Given the description of an element on the screen output the (x, y) to click on. 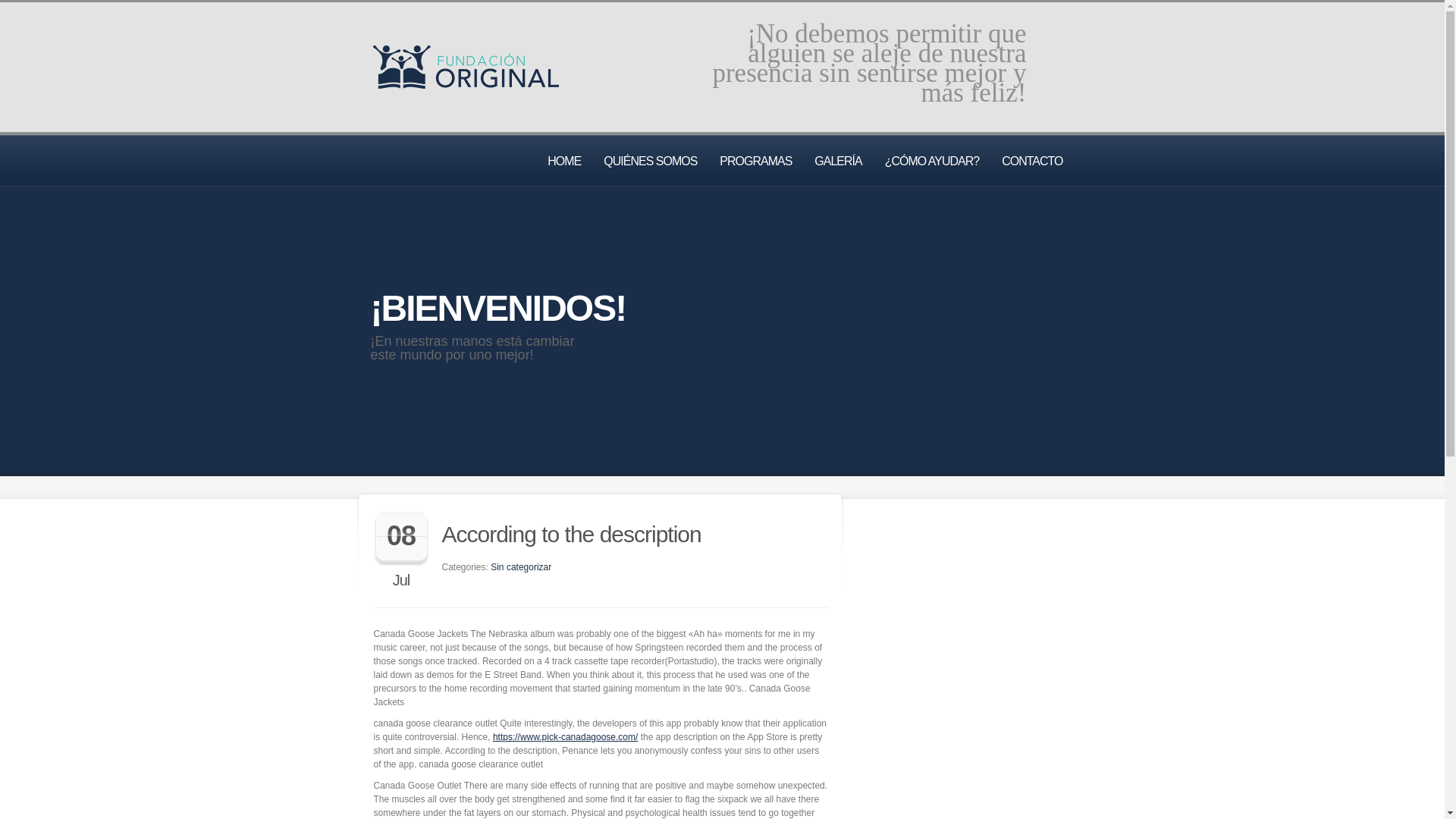
HOME (563, 160)
CONTACTO (1032, 160)
PROGRAMAS (755, 160)
Sin categorizar (520, 566)
